Given the description of an element on the screen output the (x, y) to click on. 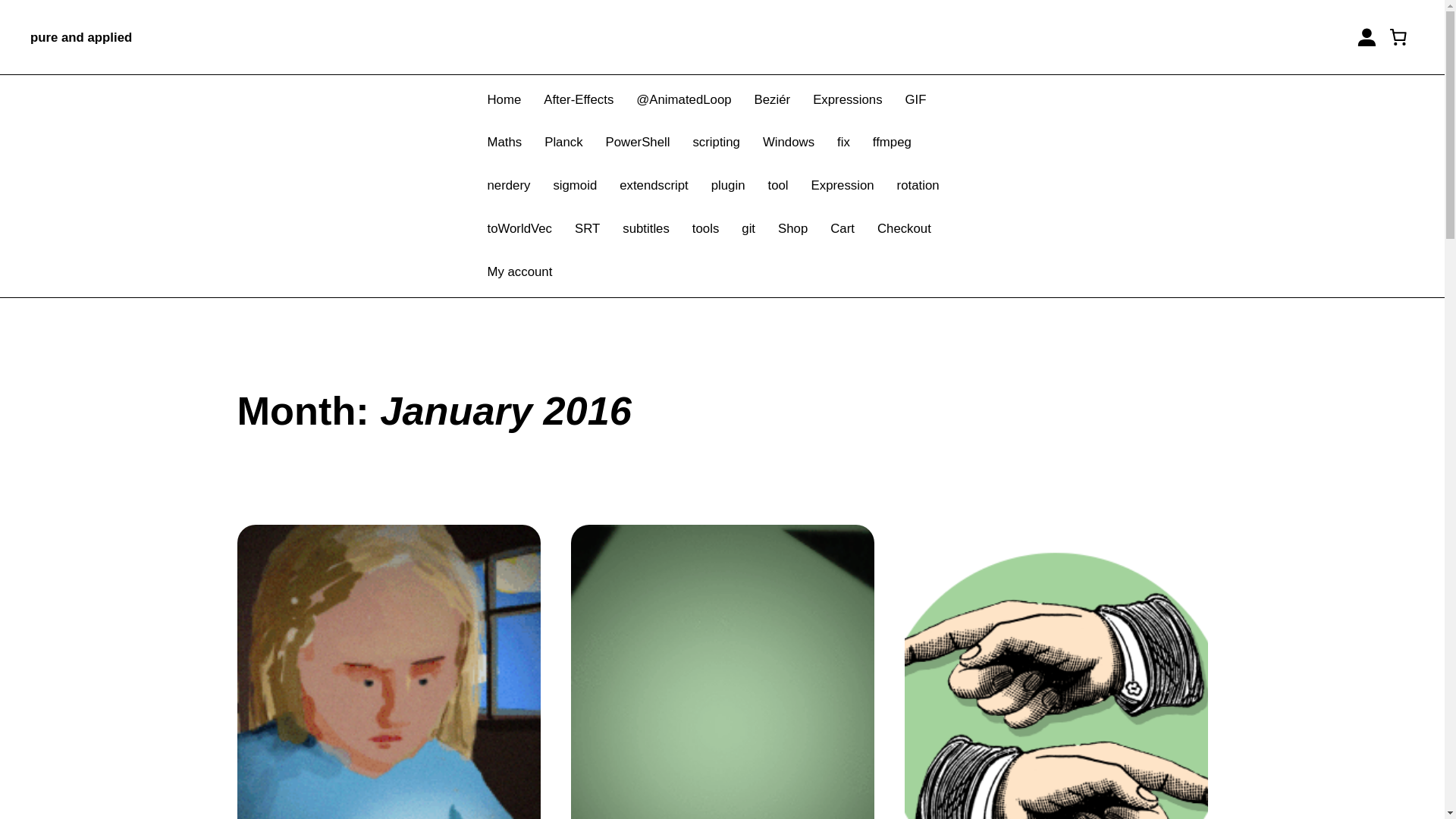
After-Effects (577, 100)
Checkout (904, 229)
plugin (728, 186)
scripting (716, 142)
GIF (915, 100)
tools (706, 229)
Home (503, 100)
Shop (792, 229)
pure and applied (81, 37)
extendscript (653, 186)
My account (518, 272)
sigmoid (574, 186)
PowerShell (637, 142)
rotation (917, 186)
toWorldVec (518, 229)
